Given the description of an element on the screen output the (x, y) to click on. 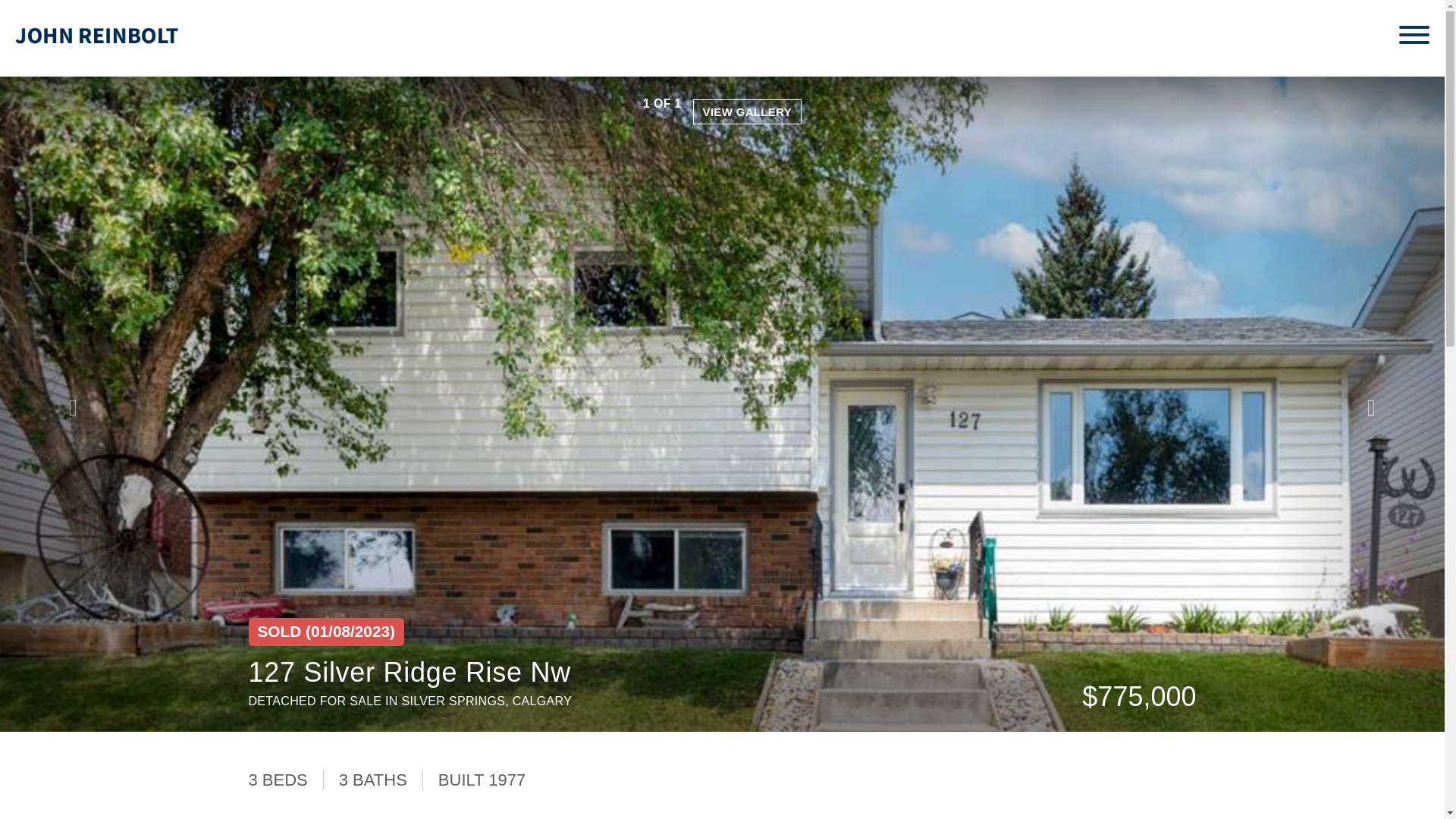
VIEW GALLERY (747, 111)
